Given the description of an element on the screen output the (x, y) to click on. 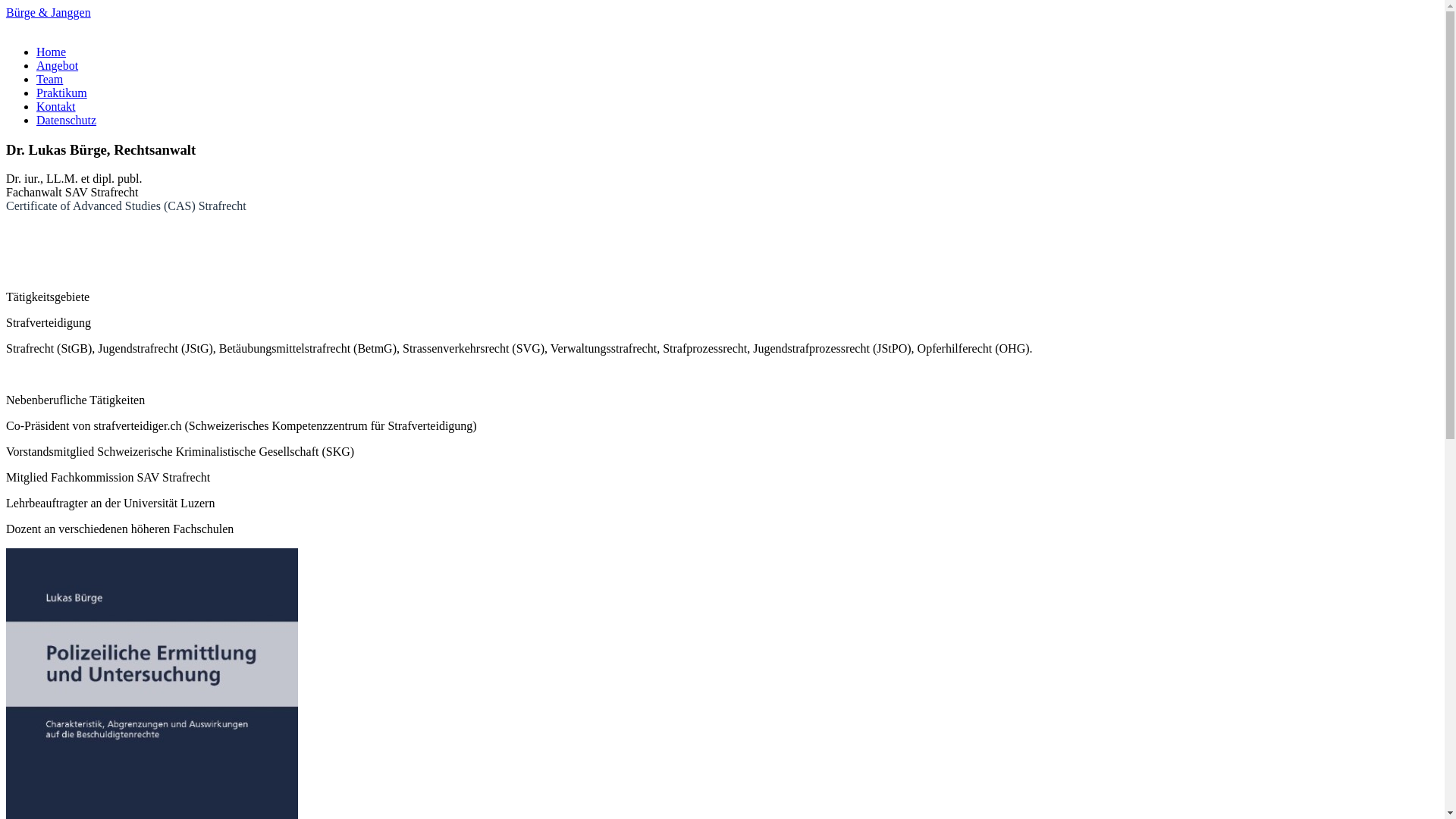
Home Element type: text (50, 51)
Kontakt Element type: text (55, 106)
Praktikum Element type: text (61, 92)
Team Element type: text (49, 78)
Angebot Element type: text (57, 65)
Datenschutz Element type: text (66, 119)
